Given the description of an element on the screen output the (x, y) to click on. 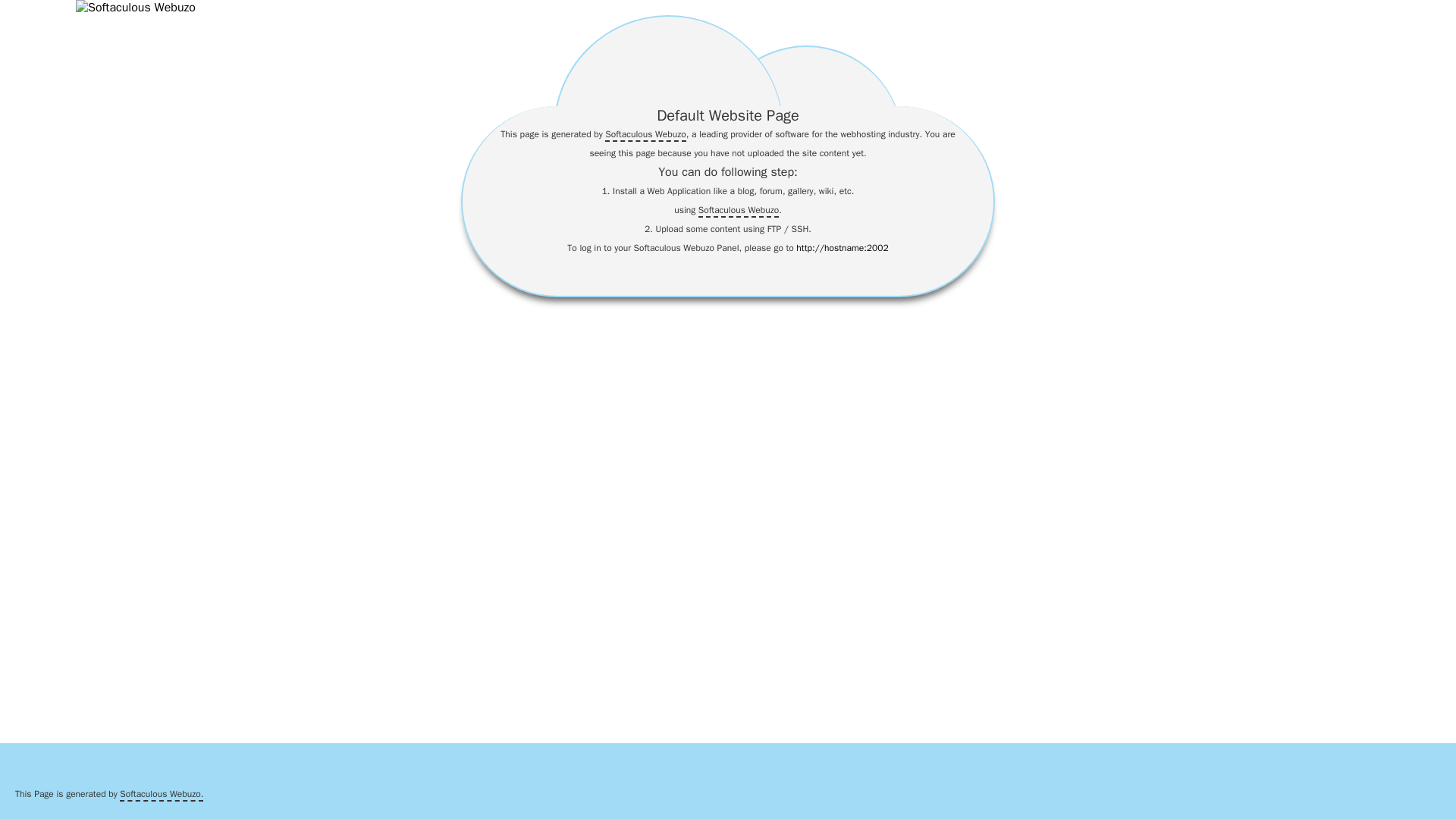
Softaculous Webuzo (645, 134)
Softaculous Webuzo (738, 210)
